Given the description of an element on the screen output the (x, y) to click on. 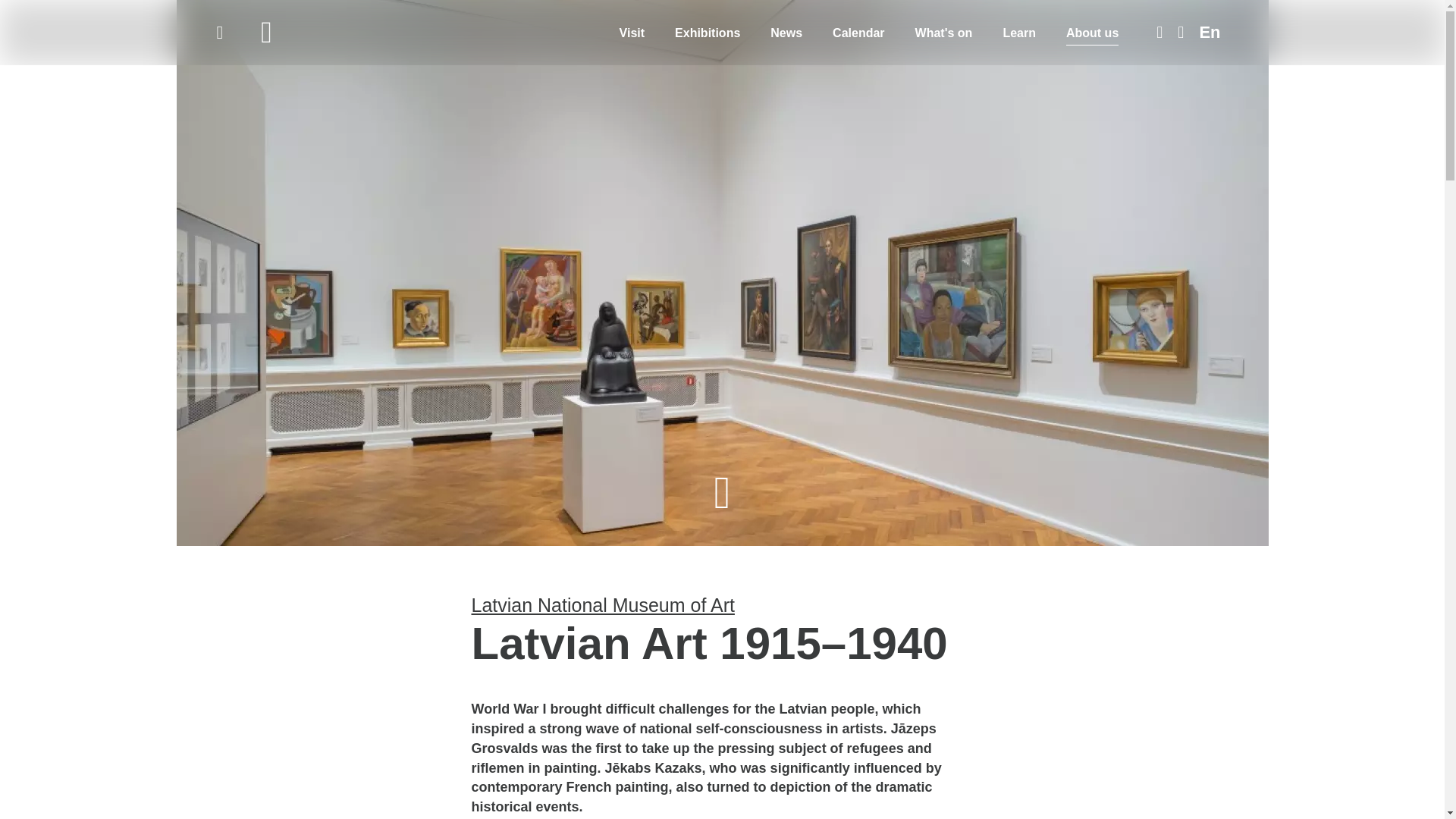
News (785, 32)
What's on (943, 32)
What's on (943, 32)
News (785, 32)
Exhibitions (707, 32)
Calendar (857, 32)
Visit (632, 32)
Learn (1019, 32)
Exhibitions (707, 32)
Calendar (857, 32)
